Given the description of an element on the screen output the (x, y) to click on. 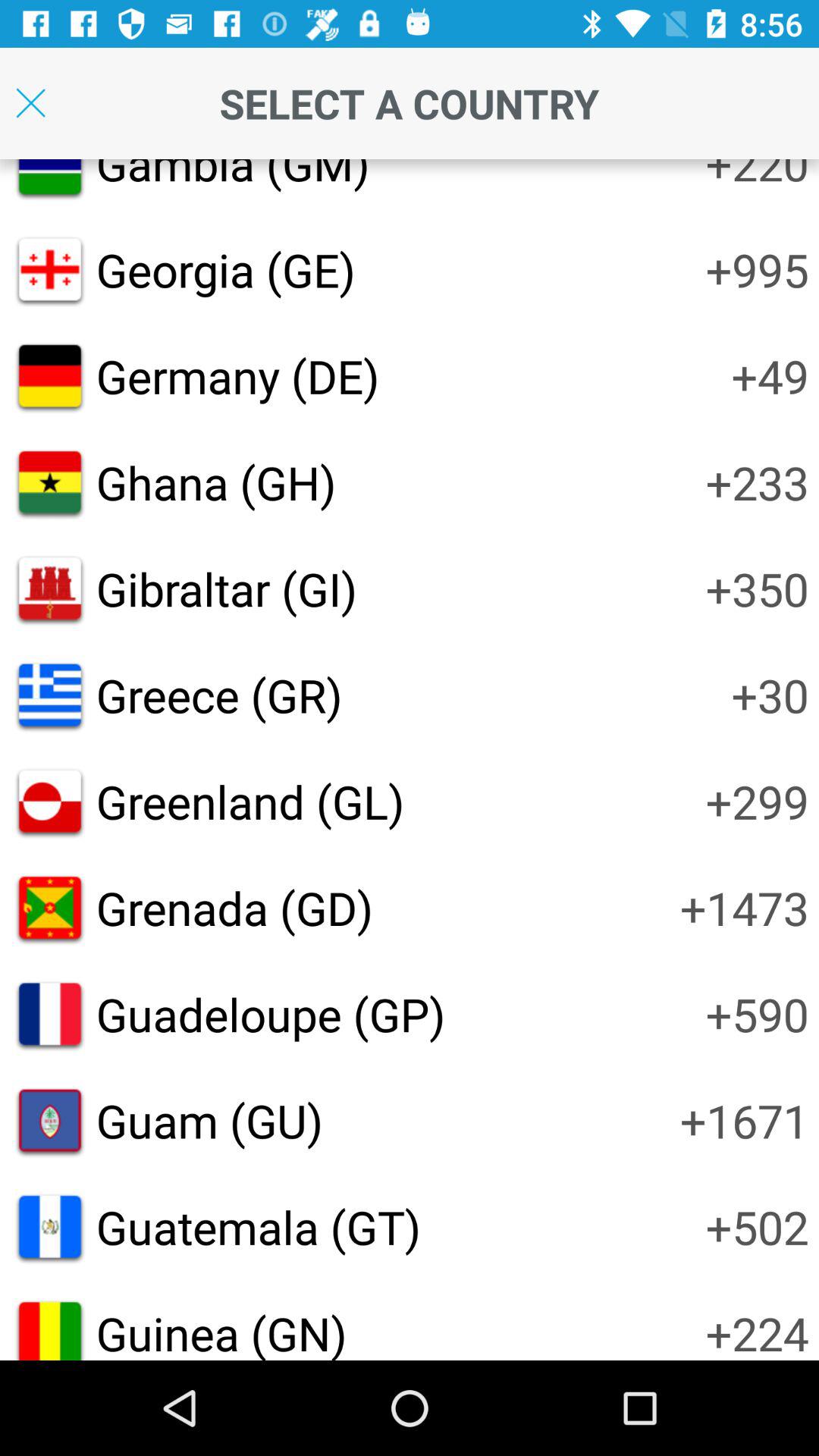
open the icon to the right of greece (gr) (769, 694)
